Given the description of an element on the screen output the (x, y) to click on. 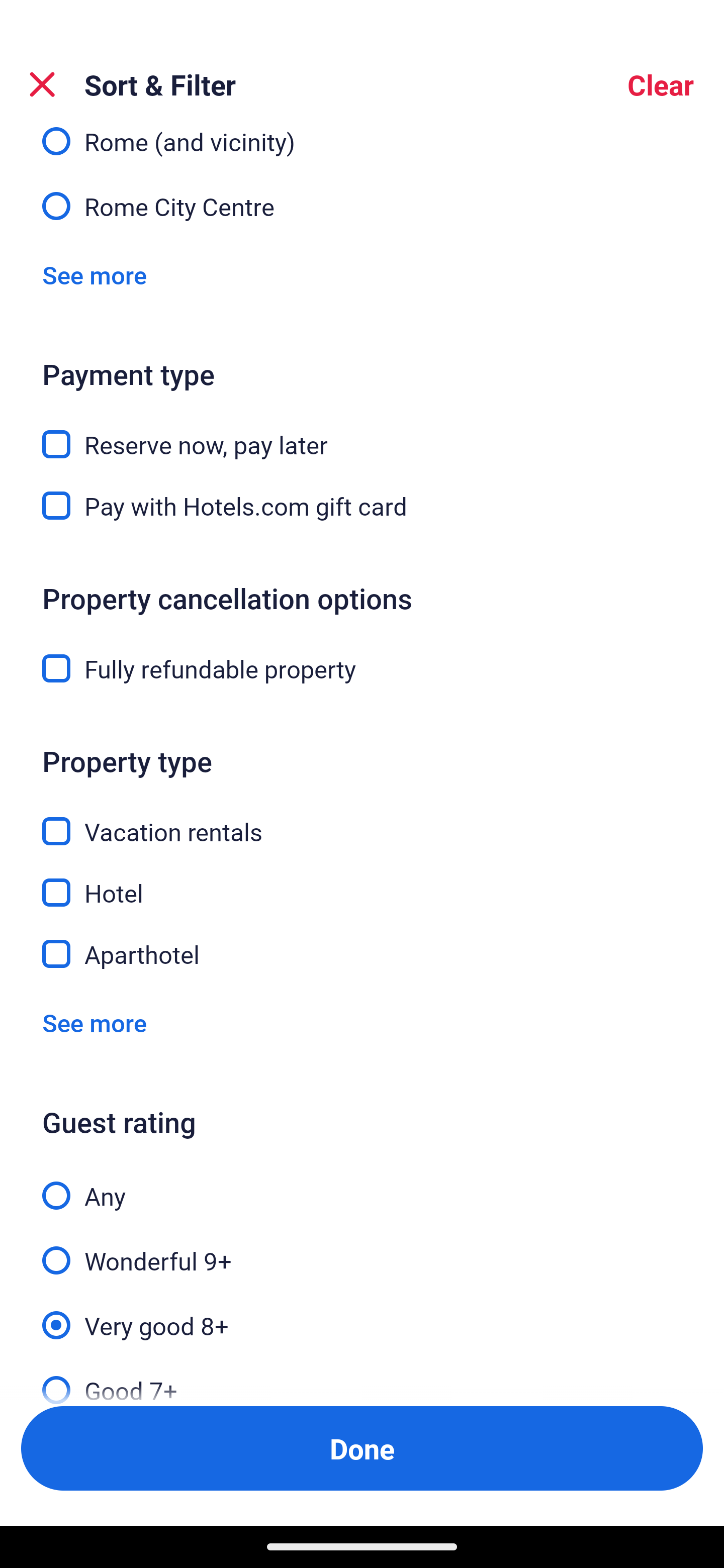
Close Sort and Filter (42, 84)
Clear (660, 84)
Rome (and vicinity) (361, 145)
Rome City Centre (361, 205)
See more See more neighborhoods Link (93, 274)
Reserve now, pay later, Reserve now, pay later (361, 433)
Vacation rentals, Vacation rentals (361, 820)
Hotel, Hotel (361, 881)
Aparthotel, Aparthotel (361, 954)
See more See more property types Link (93, 1022)
Any (361, 1184)
Wonderful 9+ (361, 1249)
Good 7+ (361, 1376)
Apply and close Sort and Filter Done (361, 1448)
